Given the description of an element on the screen output the (x, y) to click on. 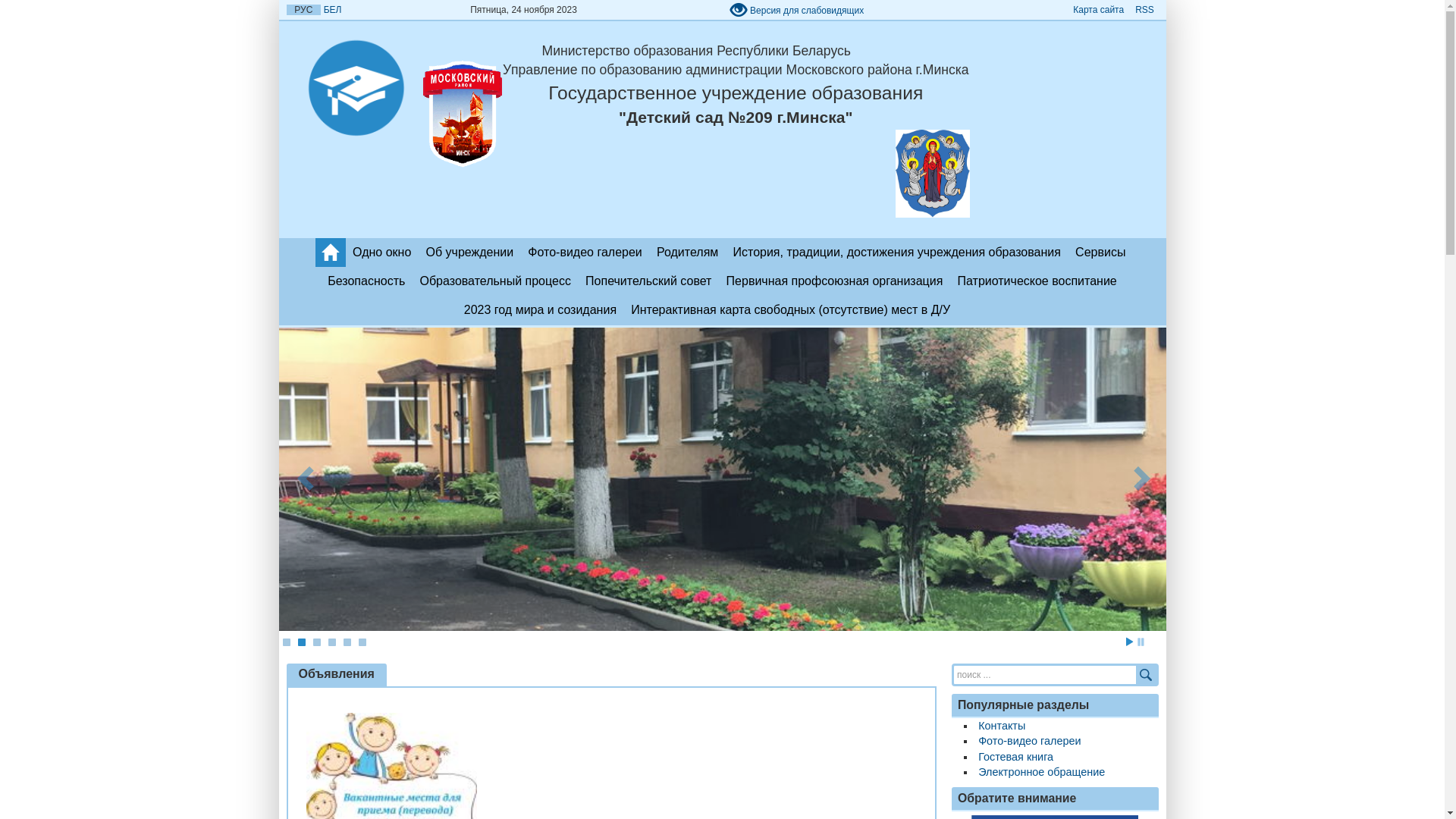
5 Element type: text (346, 642)
2 Element type: text (300, 642)
RSS Element type: text (1143, 9)
1 Element type: text (285, 642)
3 Element type: text (316, 642)
6 Element type: text (361, 642)
4 Element type: text (331, 642)
